Given the description of an element on the screen output the (x, y) to click on. 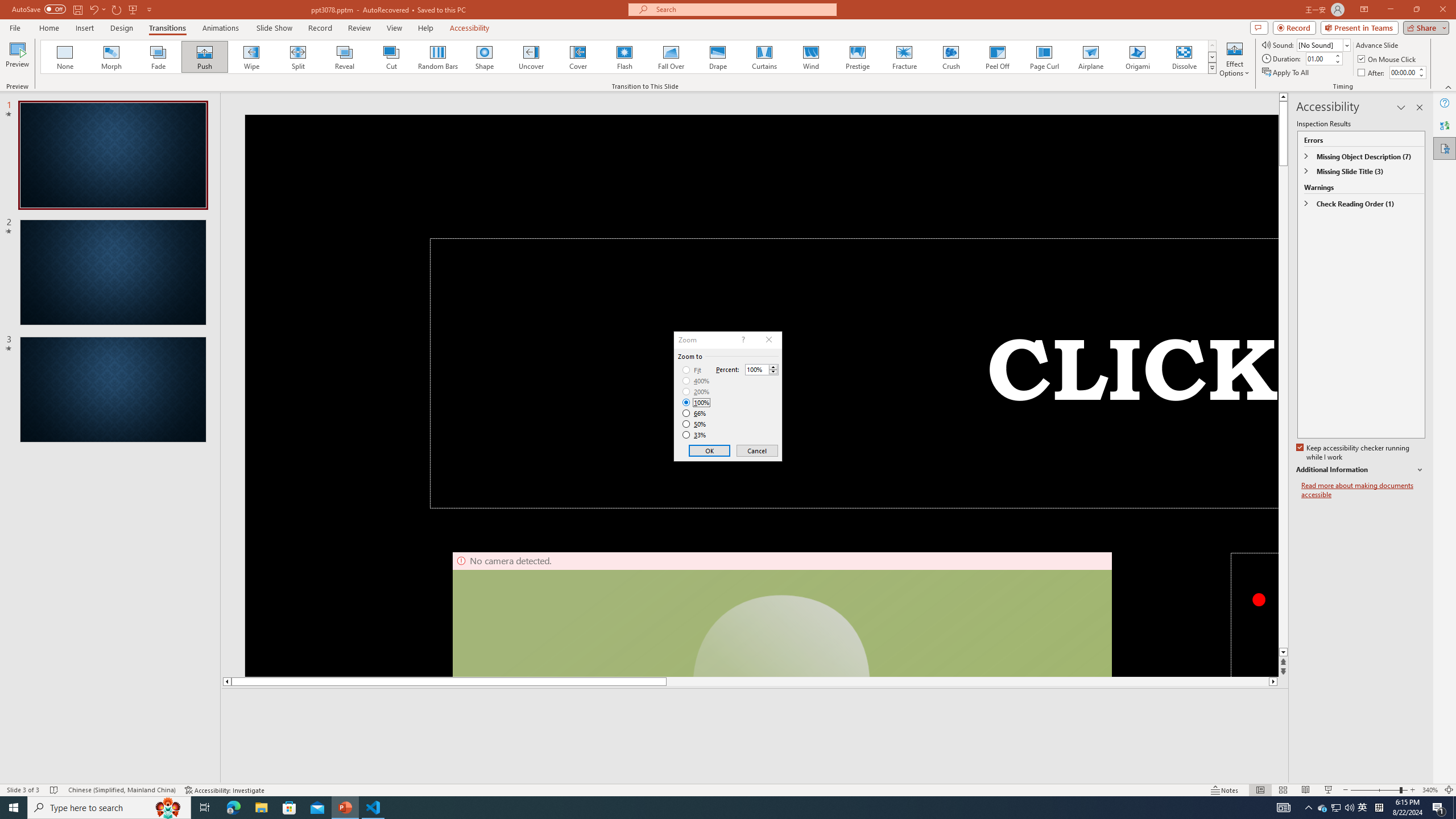
After (1372, 72)
Morph (111, 56)
Duration (1319, 58)
Sound (1324, 44)
Effect Options (1234, 58)
